Given the description of an element on the screen output the (x, y) to click on. 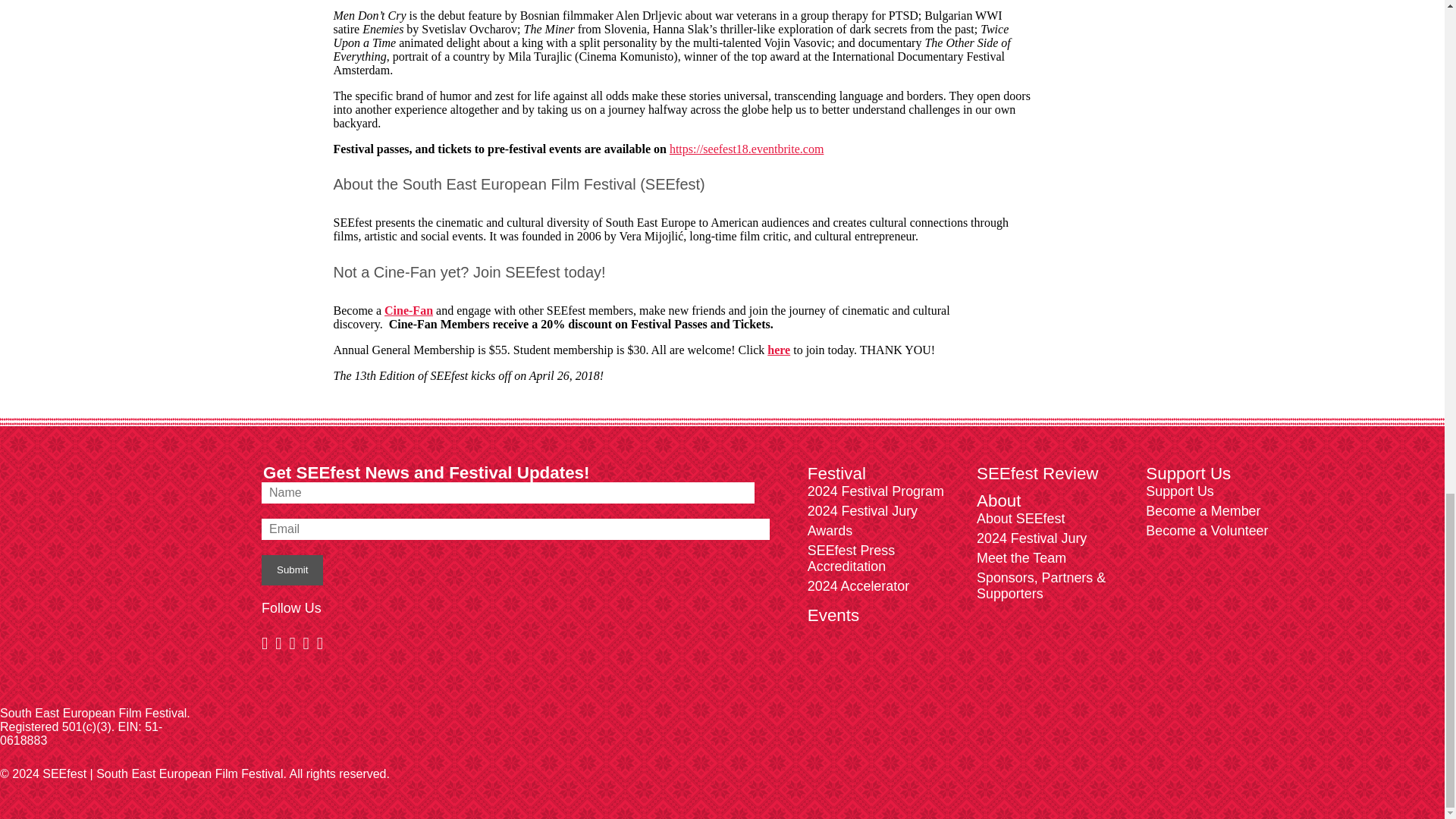
Submit (292, 570)
Cine-Fan (408, 309)
here (778, 349)
